Given the description of an element on the screen output the (x, y) to click on. 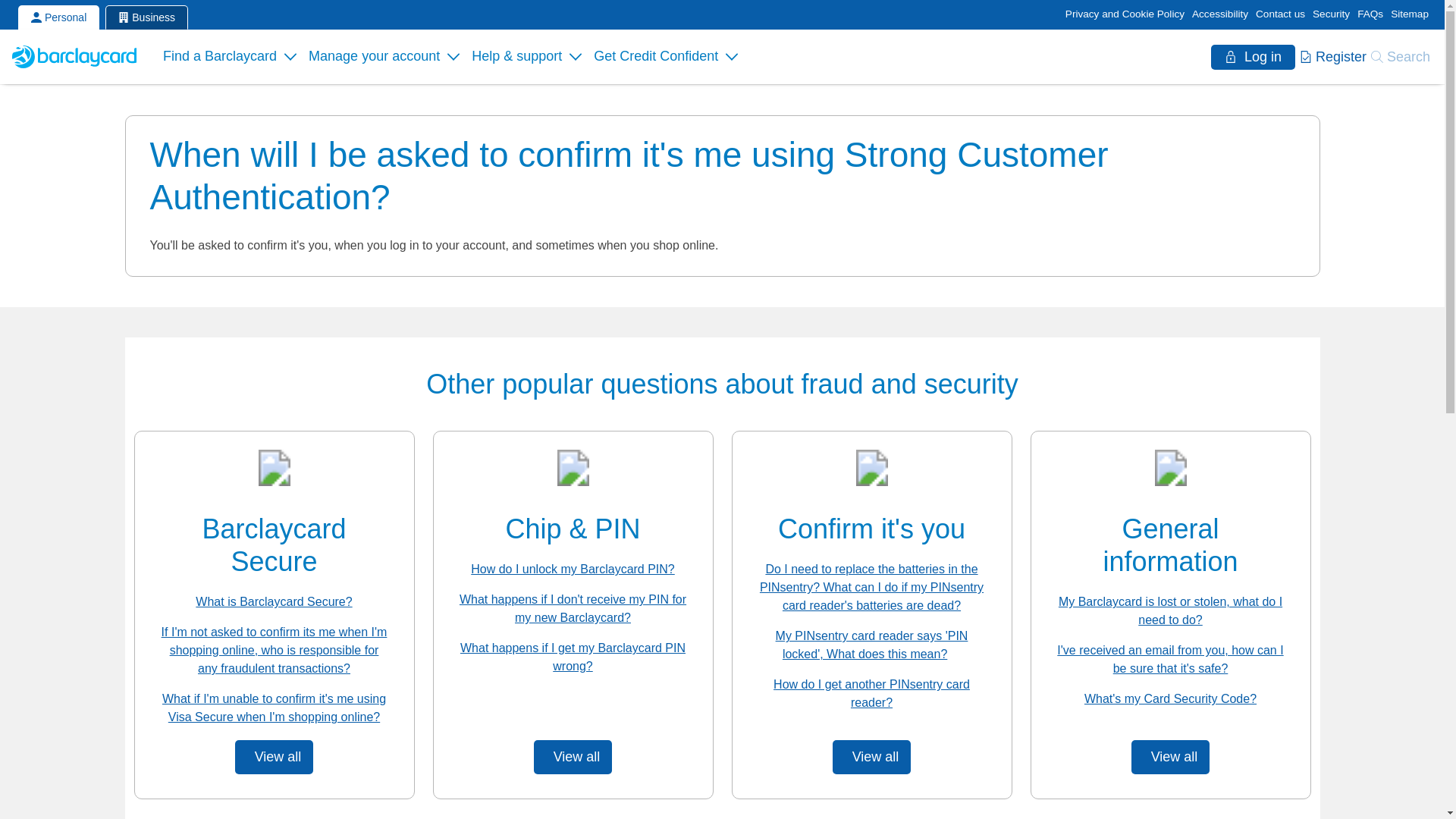
Personal (58, 17)
View all Barclaycard secure FAQs (274, 756)
Manage your account (384, 56)
Privacy and Cookie Policy (1125, 13)
View all confirm its you FAQs (871, 756)
FAQs (1369, 13)
Security (1331, 13)
Business (145, 17)
View all general information FAQs (1170, 756)
Contact us (1279, 13)
Find a Barclaycard (230, 56)
View all Chip and PIN FAQs (573, 756)
Barclaycard home (77, 56)
Accessibility (1220, 13)
Sitemap (1409, 13)
